Given the description of an element on the screen output the (x, y) to click on. 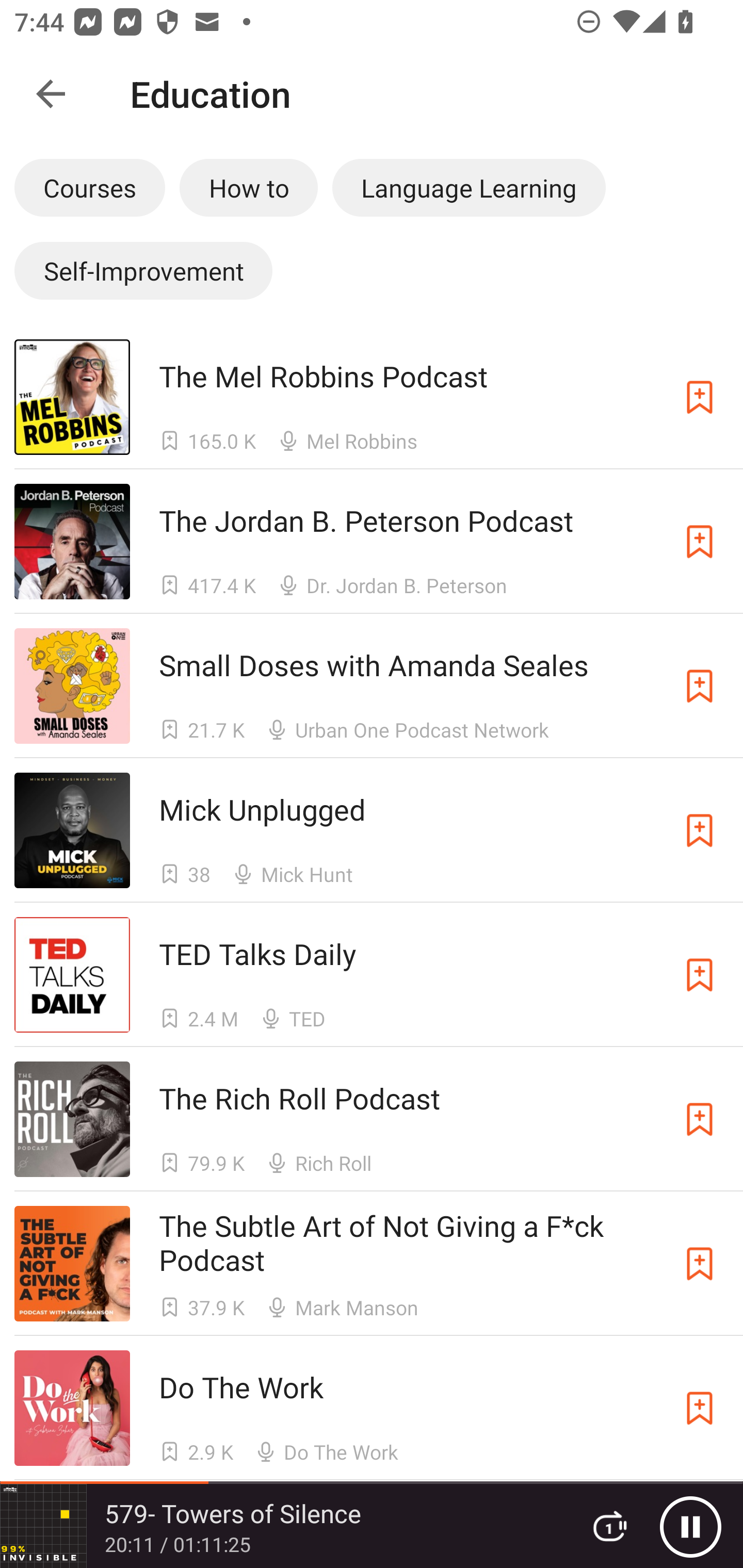
Navigate up (50, 93)
Courses (89, 187)
How to (248, 187)
Language Learning (468, 187)
Self-Improvement (143, 270)
Subscribe (699, 396)
Subscribe (699, 541)
Subscribe (699, 685)
Subscribe (699, 830)
Subscribe (699, 975)
Subscribe (699, 1119)
Subscribe (699, 1263)
Subscribe (699, 1408)
579- Towers of Silence 20:11 / 01:11:25 (283, 1525)
Pause (690, 1526)
